Given the description of an element on the screen output the (x, y) to click on. 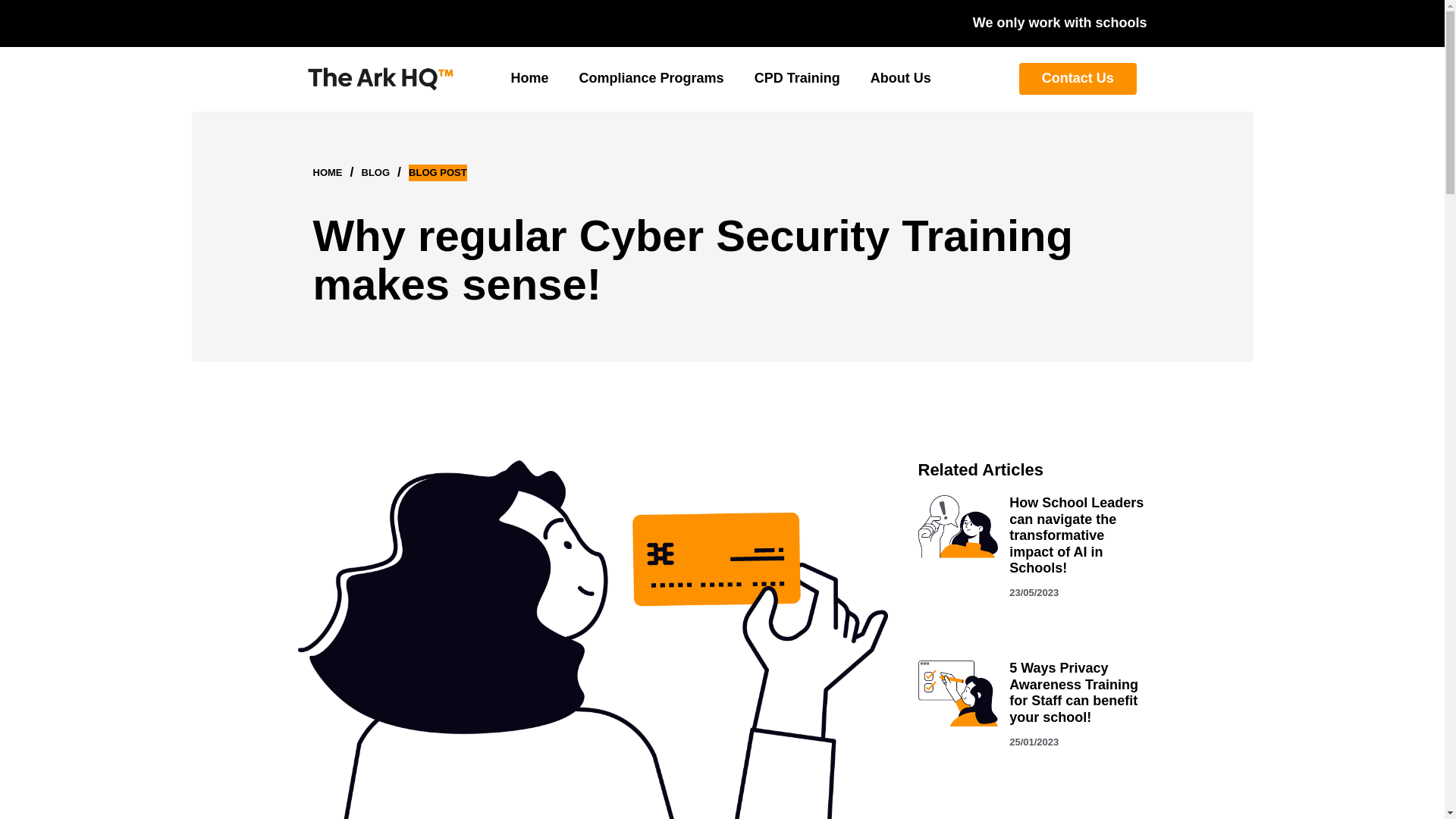
HOME (327, 172)
Contact Us (1078, 79)
About Us (900, 78)
CPD Training (797, 78)
BLOG (375, 172)
Home (529, 78)
Compliance Programs (651, 78)
